Given the description of an element on the screen output the (x, y) to click on. 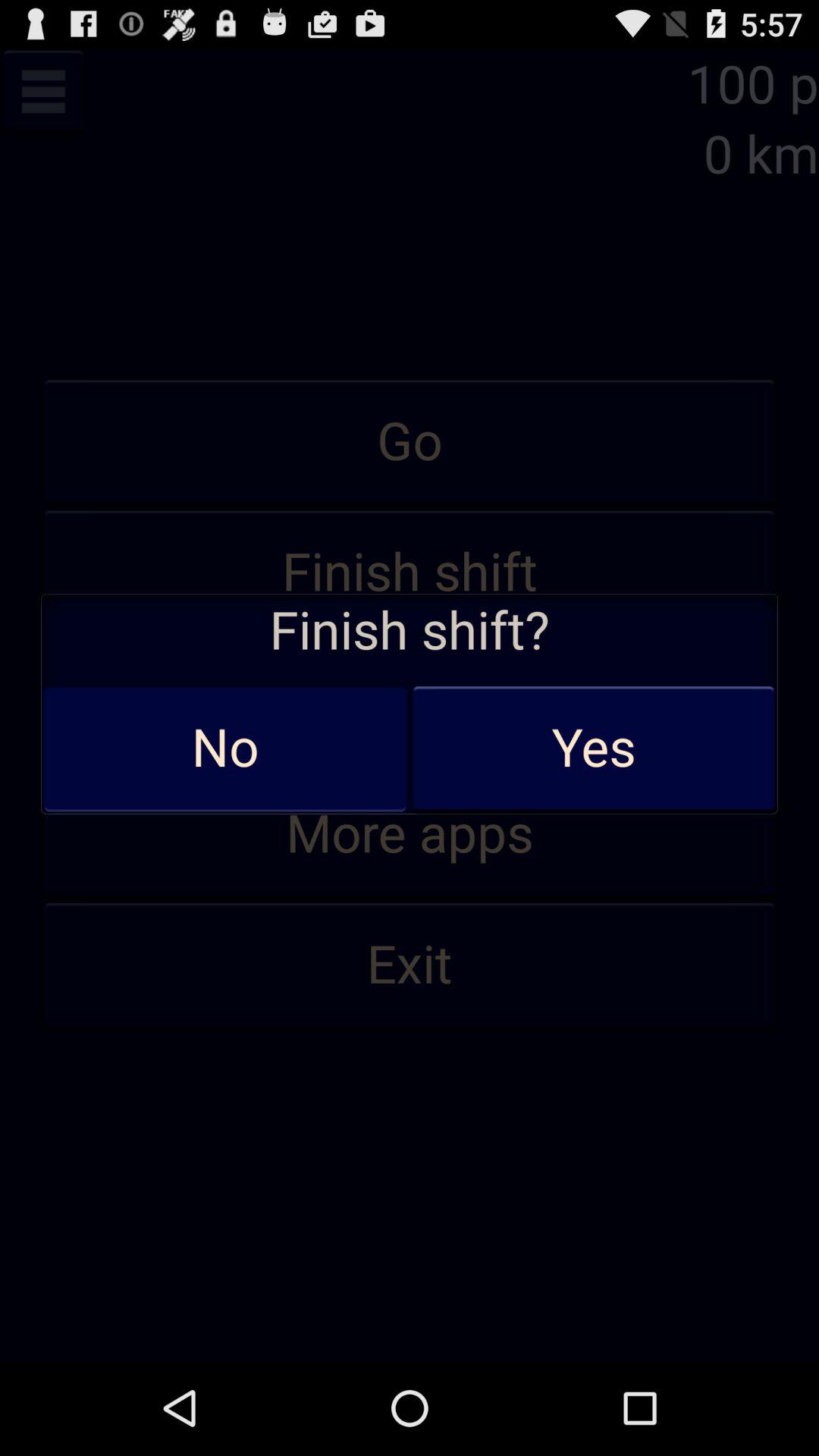
launch app below statistic (409, 834)
